Given the description of an element on the screen output the (x, y) to click on. 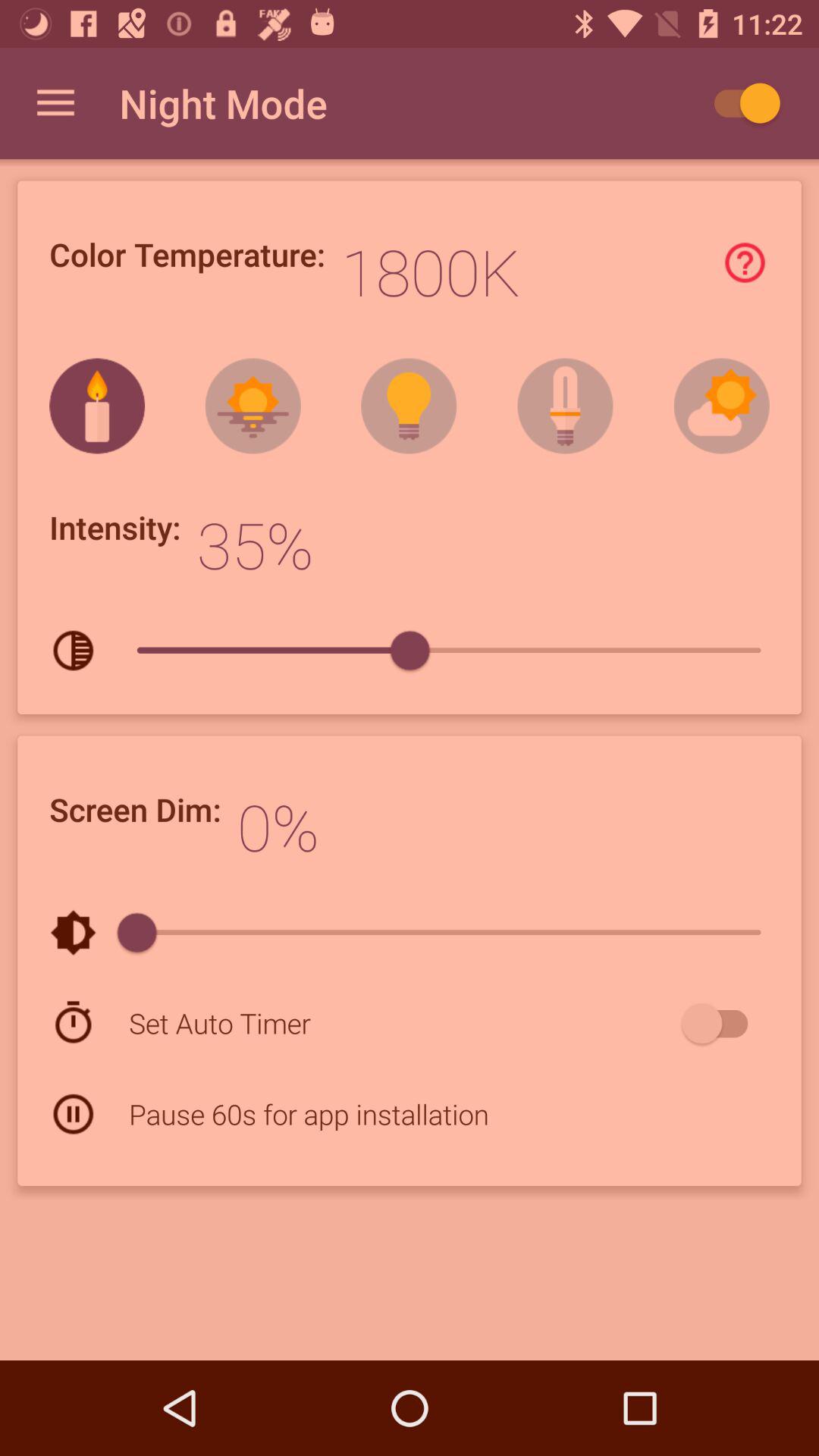
toggle night mode (739, 103)
